Given the description of an element on the screen output the (x, y) to click on. 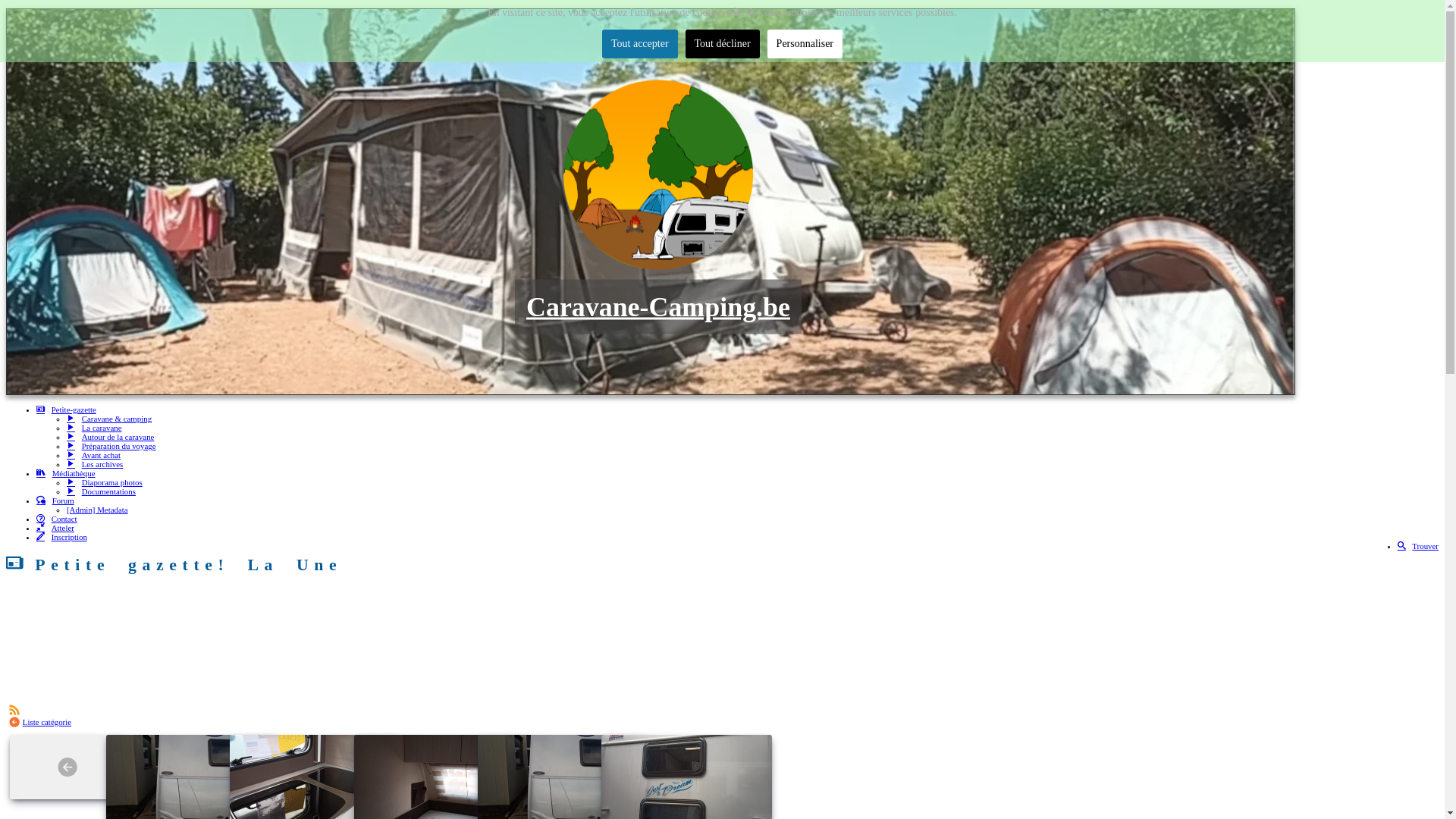
Les archives Element type: text (94, 463)
Caravane & camping Element type: text (108, 418)
Caravane-Camping.be Element type: text (658, 306)
La caravane Element type: text (94, 427)
RSS Element type: hover (14, 707)
Contact Element type: text (56, 518)
Tout accepter Element type: text (639, 43)
Diaporama photos Element type: text (104, 481)
Avant achat Element type: text (93, 454)
Autour de la caravane Element type: text (109, 436)
Inscription Element type: text (61, 536)
[Admin] Metadata Element type: text (97, 509)
Atteler Element type: text (55, 527)
Personnaliser Element type: text (804, 43)
Forum Element type: text (55, 500)
Documentations Element type: text (100, 490)
Trouver Element type: text (1417, 545)
Petite-gazette Element type: text (66, 409)
